Given the description of an element on the screen output the (x, y) to click on. 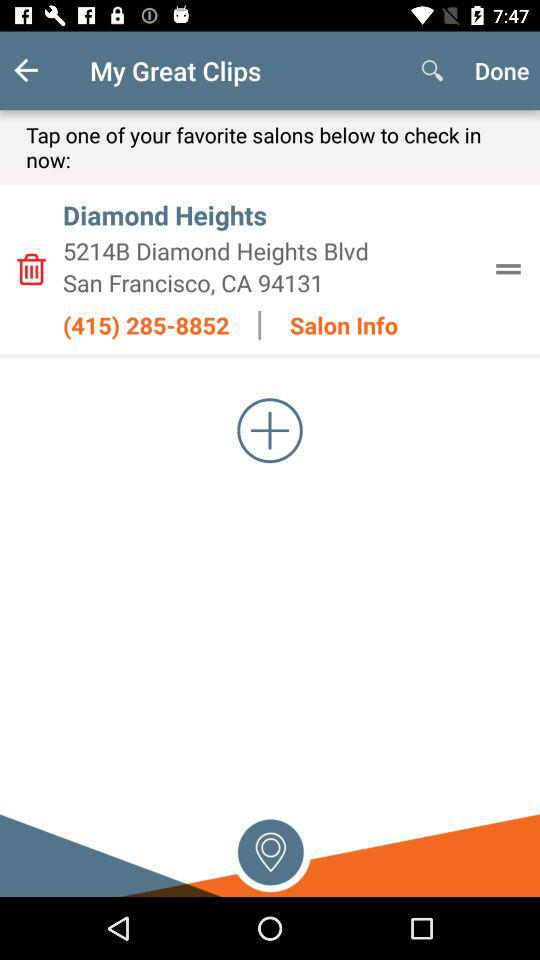
launch the item next to my great clips app (432, 70)
